Given the description of an element on the screen output the (x, y) to click on. 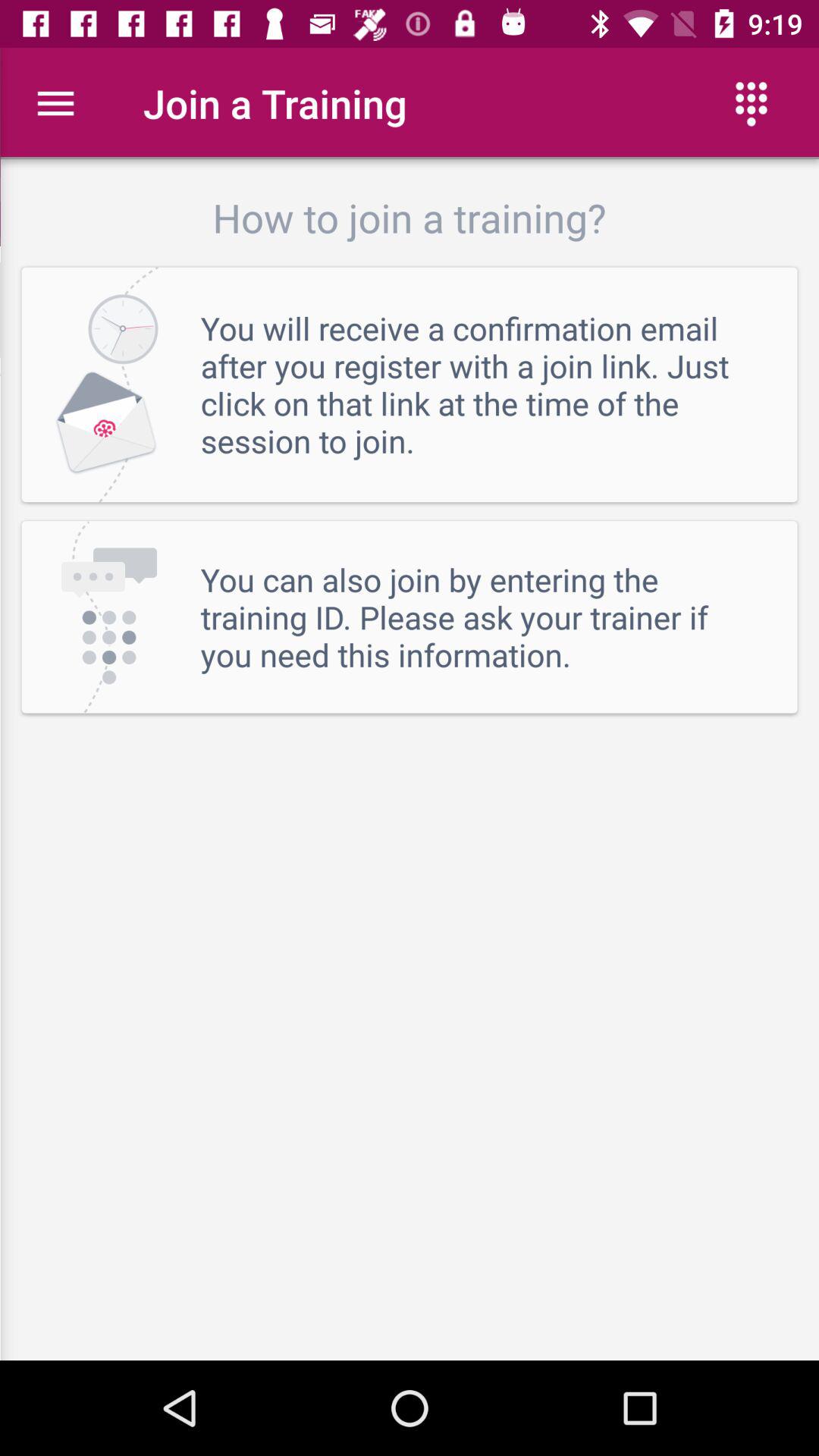
open the item next to join a training item (55, 103)
